Given the description of an element on the screen output the (x, y) to click on. 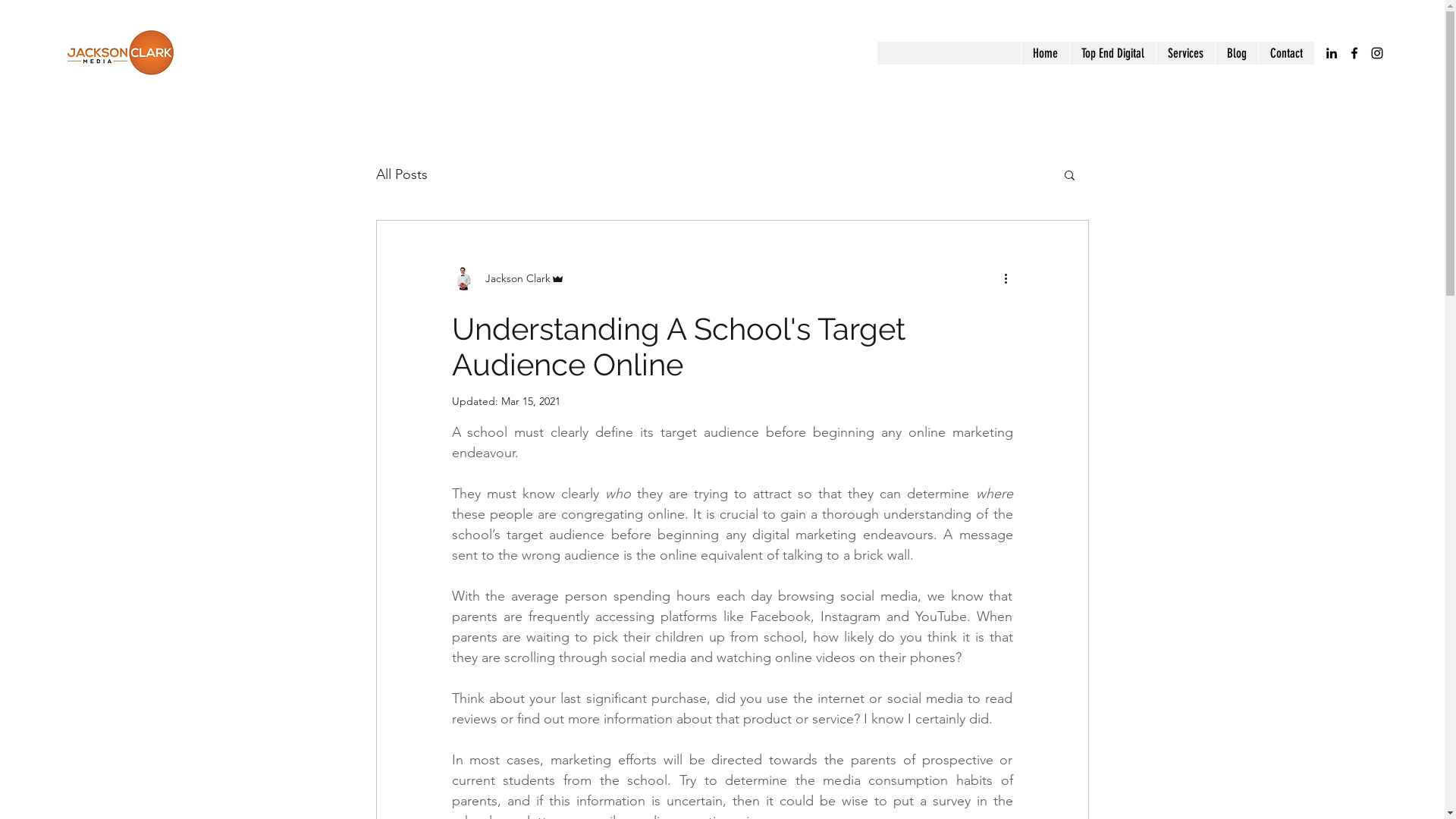
Contact Element type: text (1286, 52)
Blog Element type: text (1236, 52)
Services Element type: text (1184, 52)
Top End Digital Element type: text (1112, 52)
Home Element type: text (1044, 52)
All Posts Element type: text (401, 174)
